Given the description of an element on the screen output the (x, y) to click on. 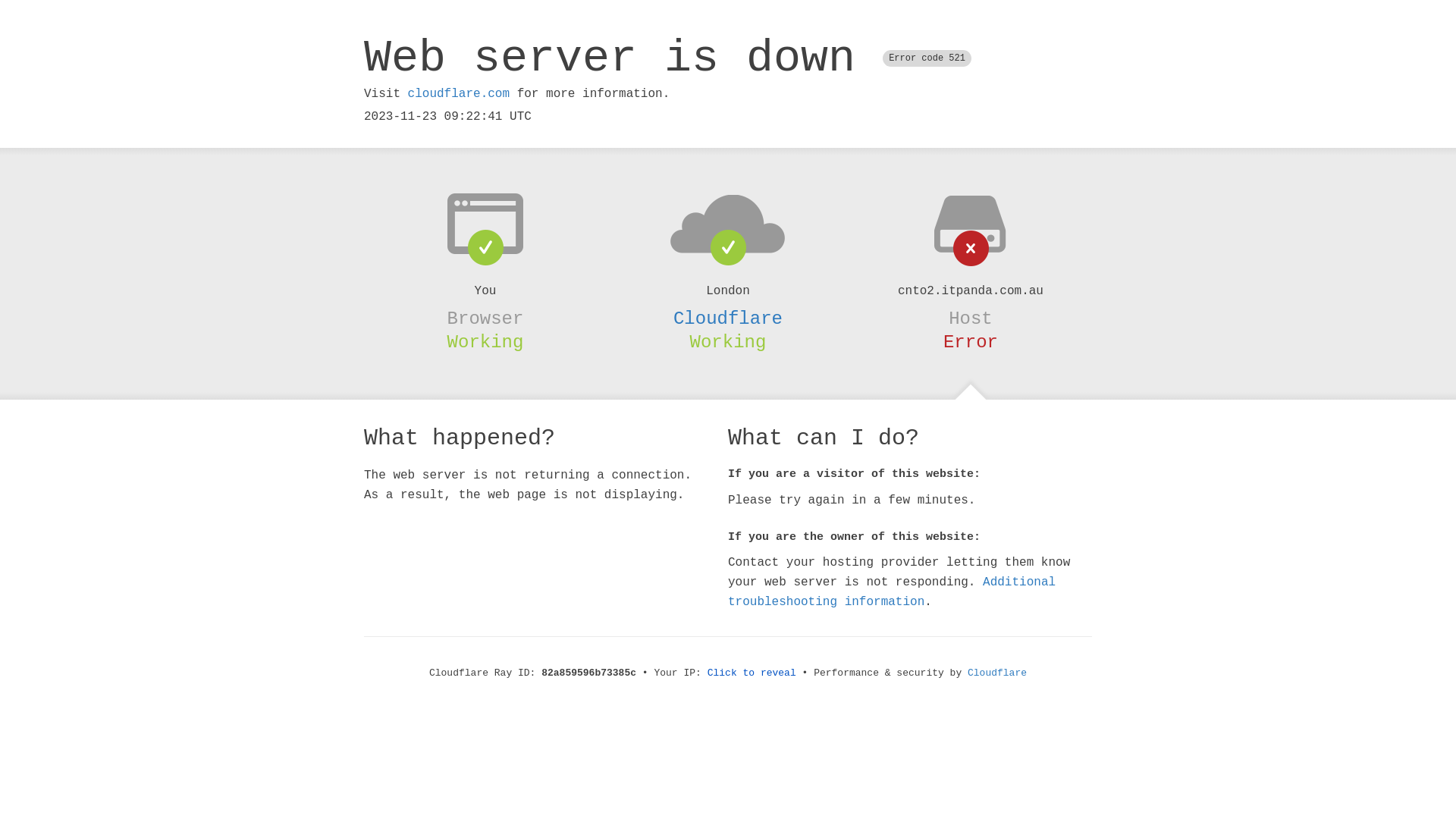
Click to reveal Element type: text (751, 672)
Additional troubleshooting information Element type: text (891, 591)
Cloudflare Element type: text (727, 318)
cloudflare.com Element type: text (458, 93)
Cloudflare Element type: text (996, 672)
